Given the description of an element on the screen output the (x, y) to click on. 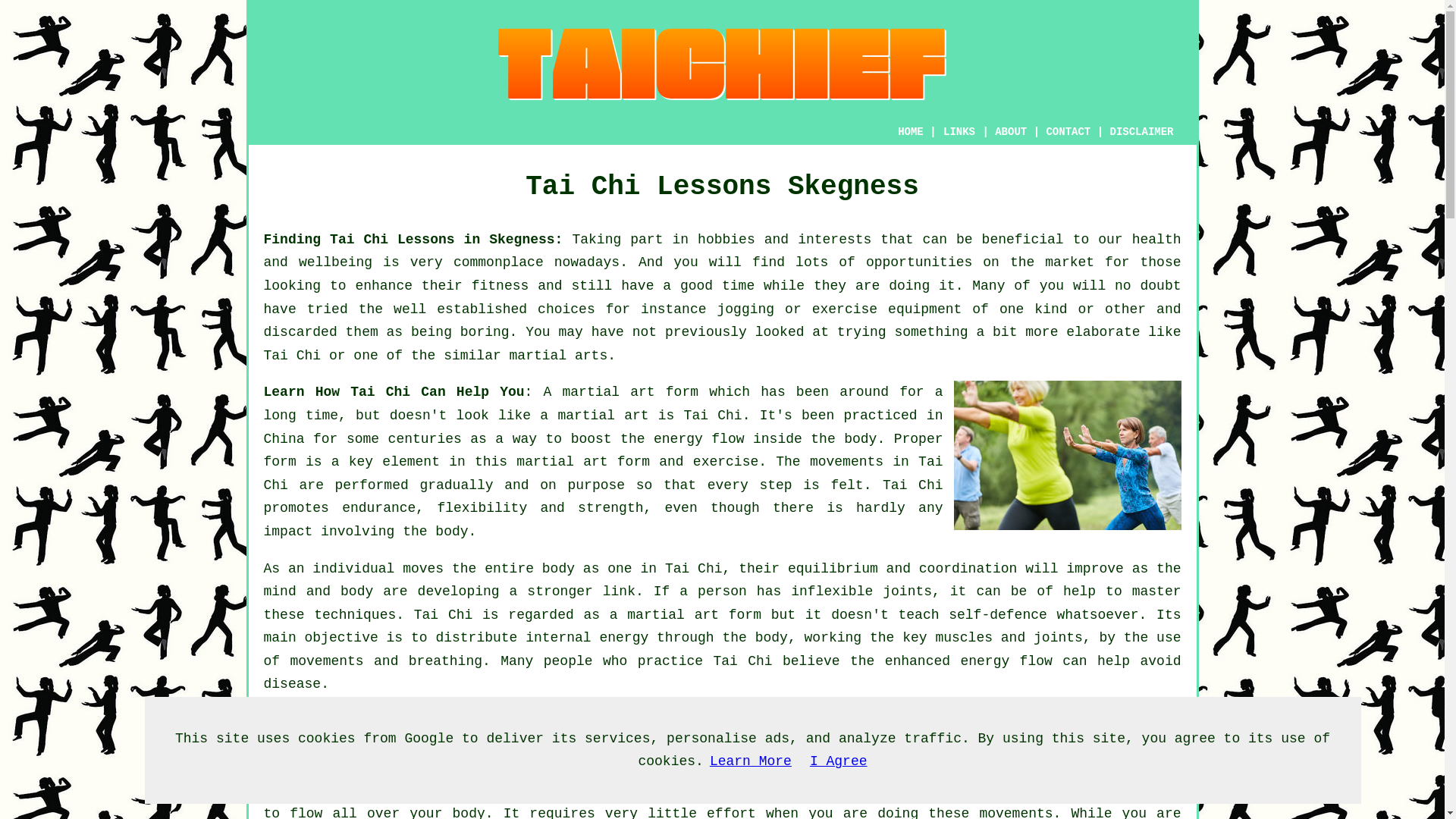
HOME (910, 132)
LINKS (958, 131)
